Given the description of an element on the screen output the (x, y) to click on. 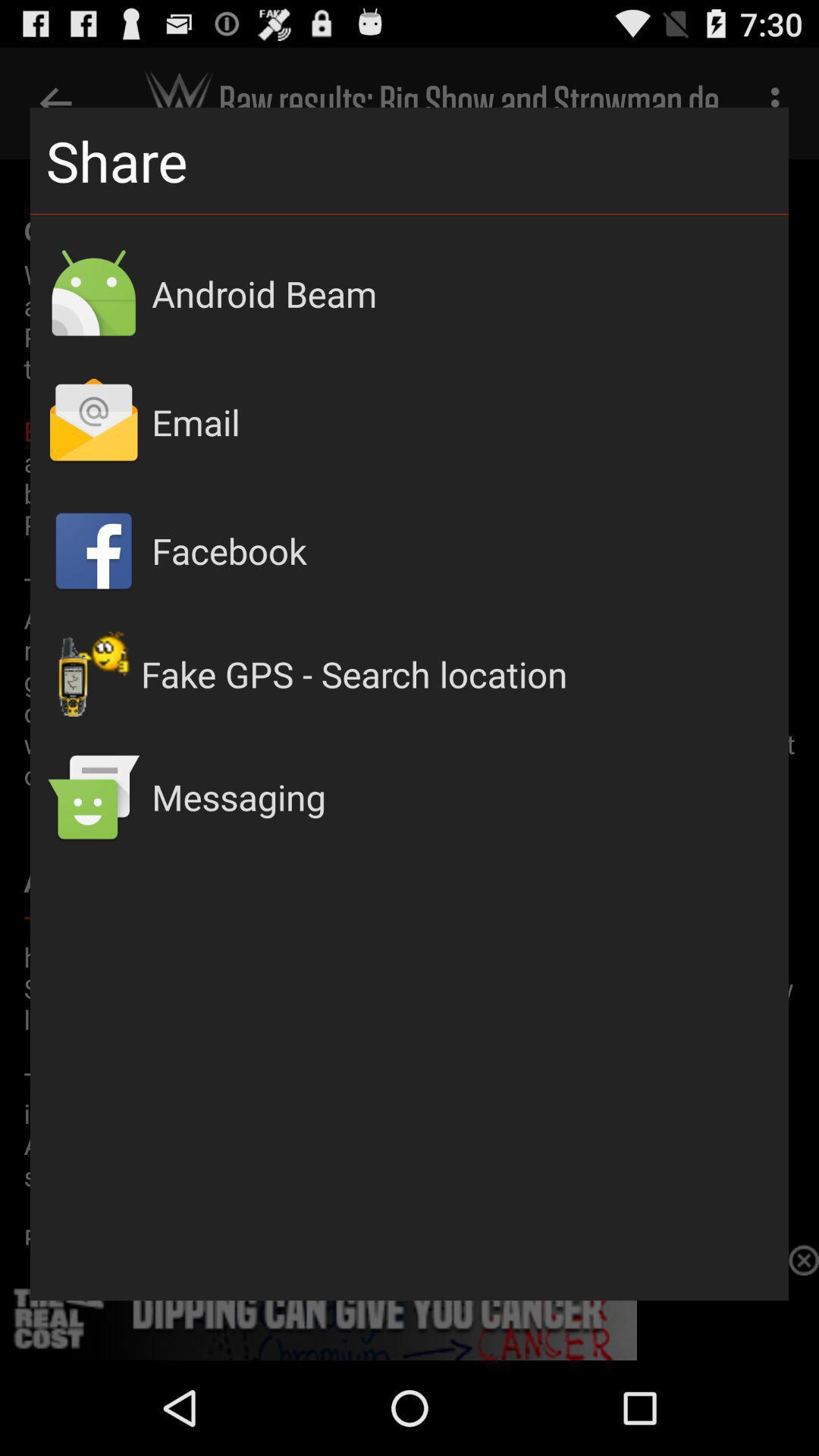
click the app above the fake gps search app (461, 550)
